Given the description of an element on the screen output the (x, y) to click on. 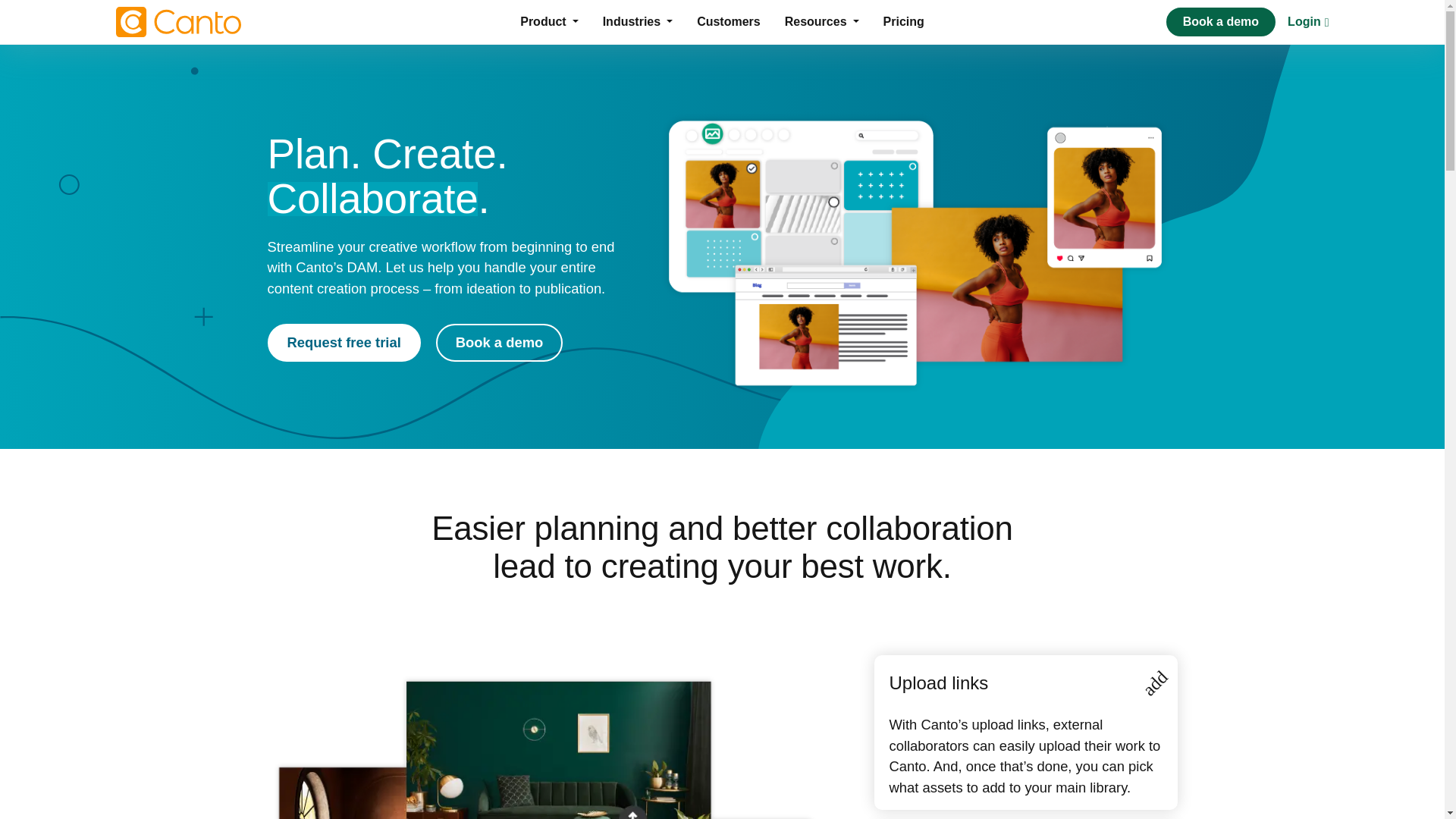
Customers (728, 20)
Resources (821, 20)
Book a demo (498, 342)
Request free trial (343, 342)
Product (548, 20)
Book a demo (1220, 21)
Login (1307, 21)
Industries (637, 20)
Pricing (903, 20)
